Given the description of an element on the screen output the (x, y) to click on. 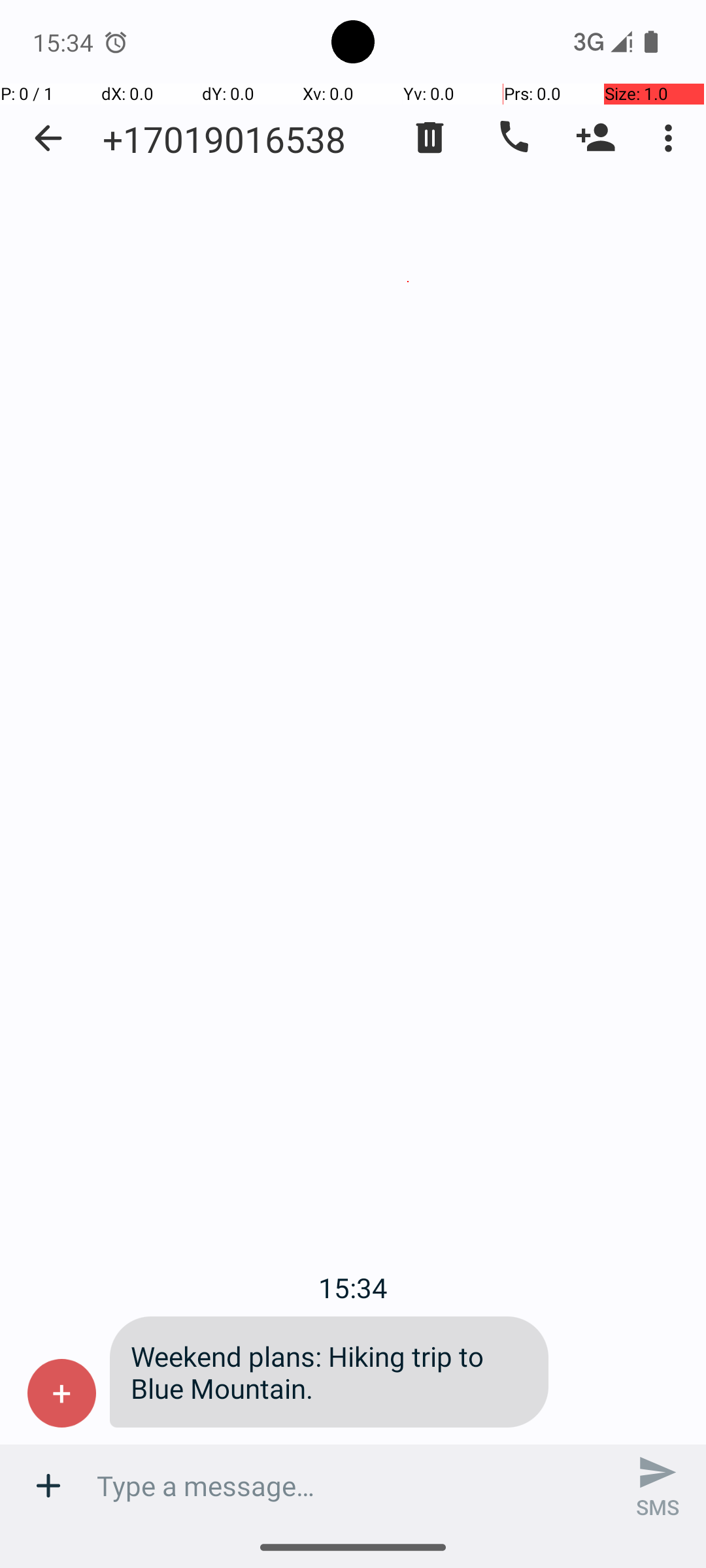
+17019016538 Element type: android.widget.TextView (223, 138)
Weekend plans: Hiking trip to Blue Mountain. Element type: android.widget.TextView (328, 1371)
